Given the description of an element on the screen output the (x, y) to click on. 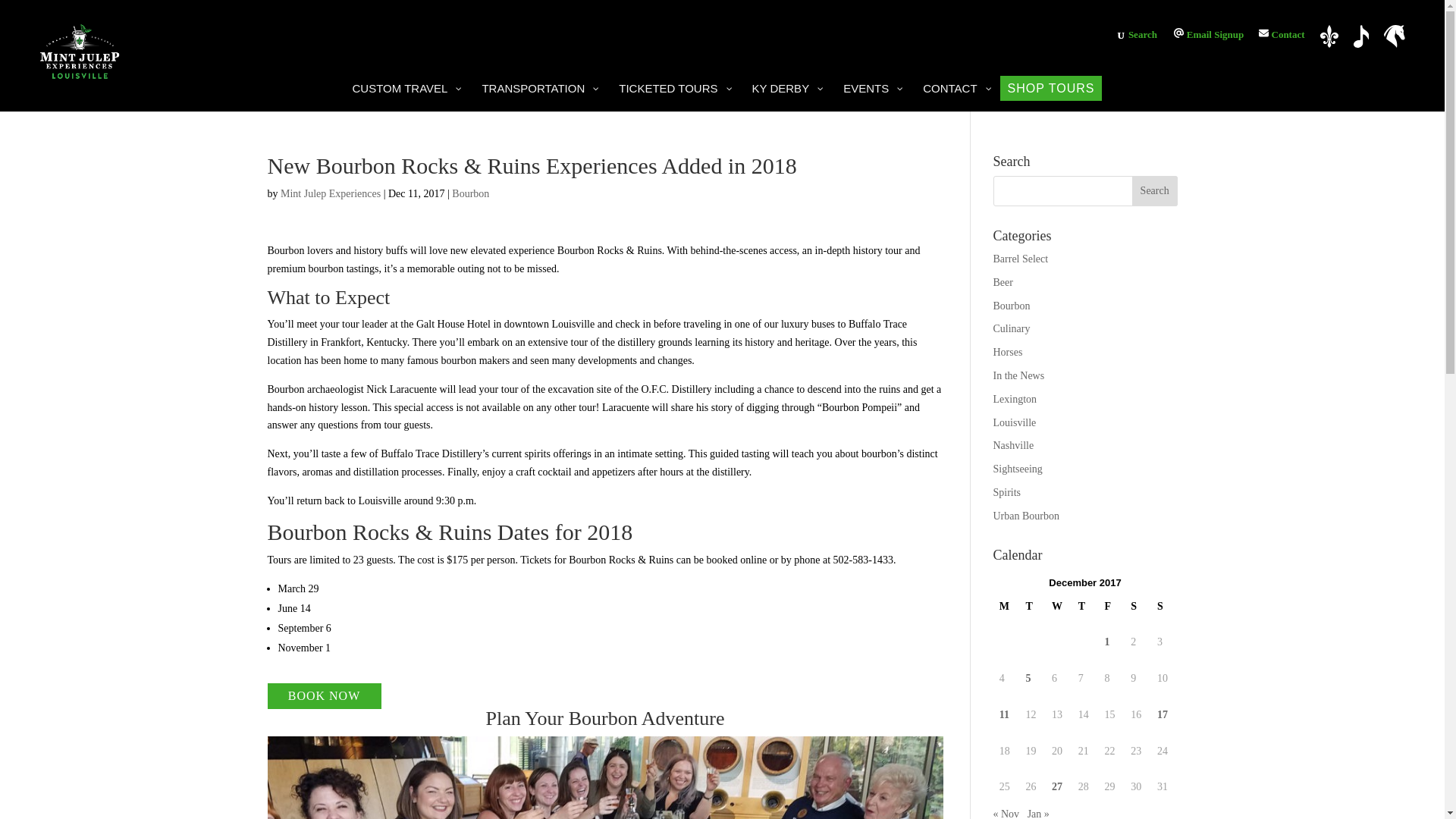
Monday (1006, 606)
Tuesday (1032, 606)
Search (1154, 191)
Search (1142, 34)
Email Signup (1208, 34)
Friday (1110, 606)
Wednesday (1058, 606)
Sunday (1164, 606)
TRANSPORTATION (538, 88)
Lexington (1394, 36)
TICKETED TOURS (673, 88)
Posts by Mint Julep Experiences (330, 193)
Thursday (1085, 606)
CUSTOM TRAVEL (405, 88)
Nashville (1362, 36)
